Given the description of an element on the screen output the (x, y) to click on. 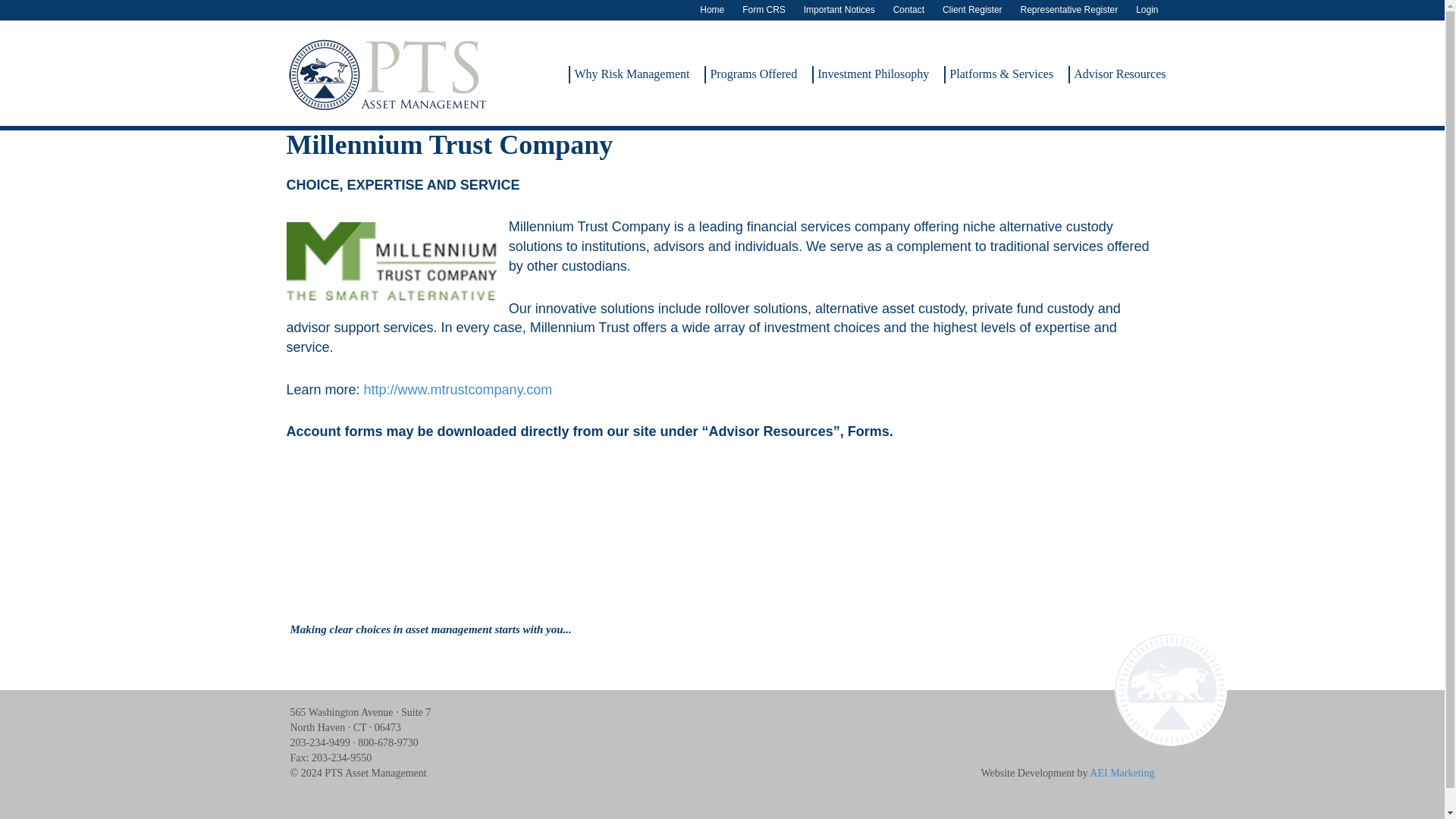
AEI Marketing (1121, 772)
Programs Offered (751, 69)
Home (712, 10)
Form CRS (764, 10)
Investment Philosophy (870, 69)
Advisor Resources (1118, 69)
Contact (908, 10)
Important Notices (839, 10)
Why Risk Management (629, 69)
Login (1147, 10)
Representative Register (1069, 10)
Client Register (972, 10)
